Given the description of an element on the screen output the (x, y) to click on. 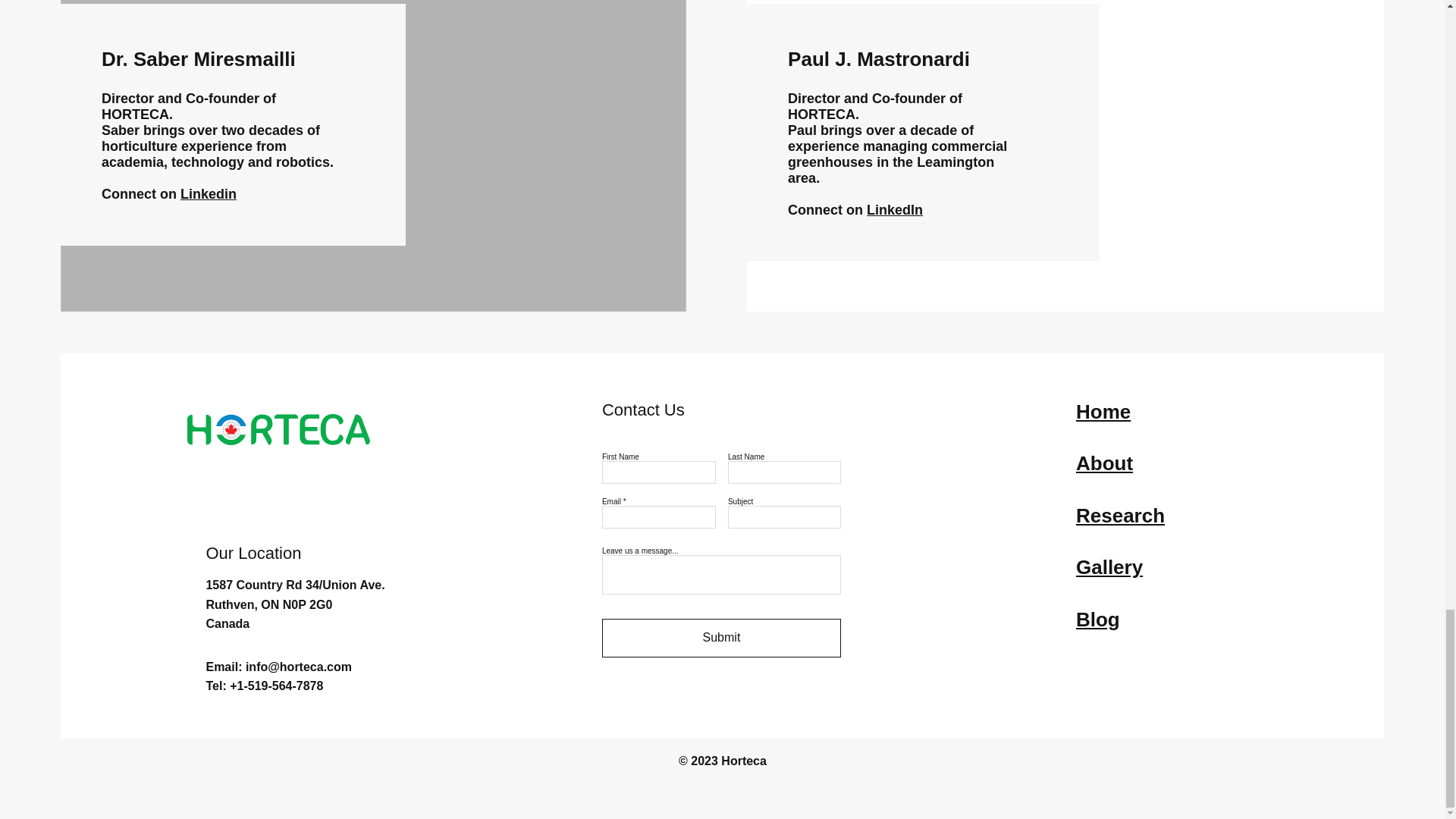
Linkedin (207, 193)
Blog (1097, 619)
LinkedIn (894, 209)
Gallery (1108, 567)
Research (1119, 515)
Submit (721, 638)
Home (1103, 411)
About (1103, 463)
